Given the description of an element on the screen output the (x, y) to click on. 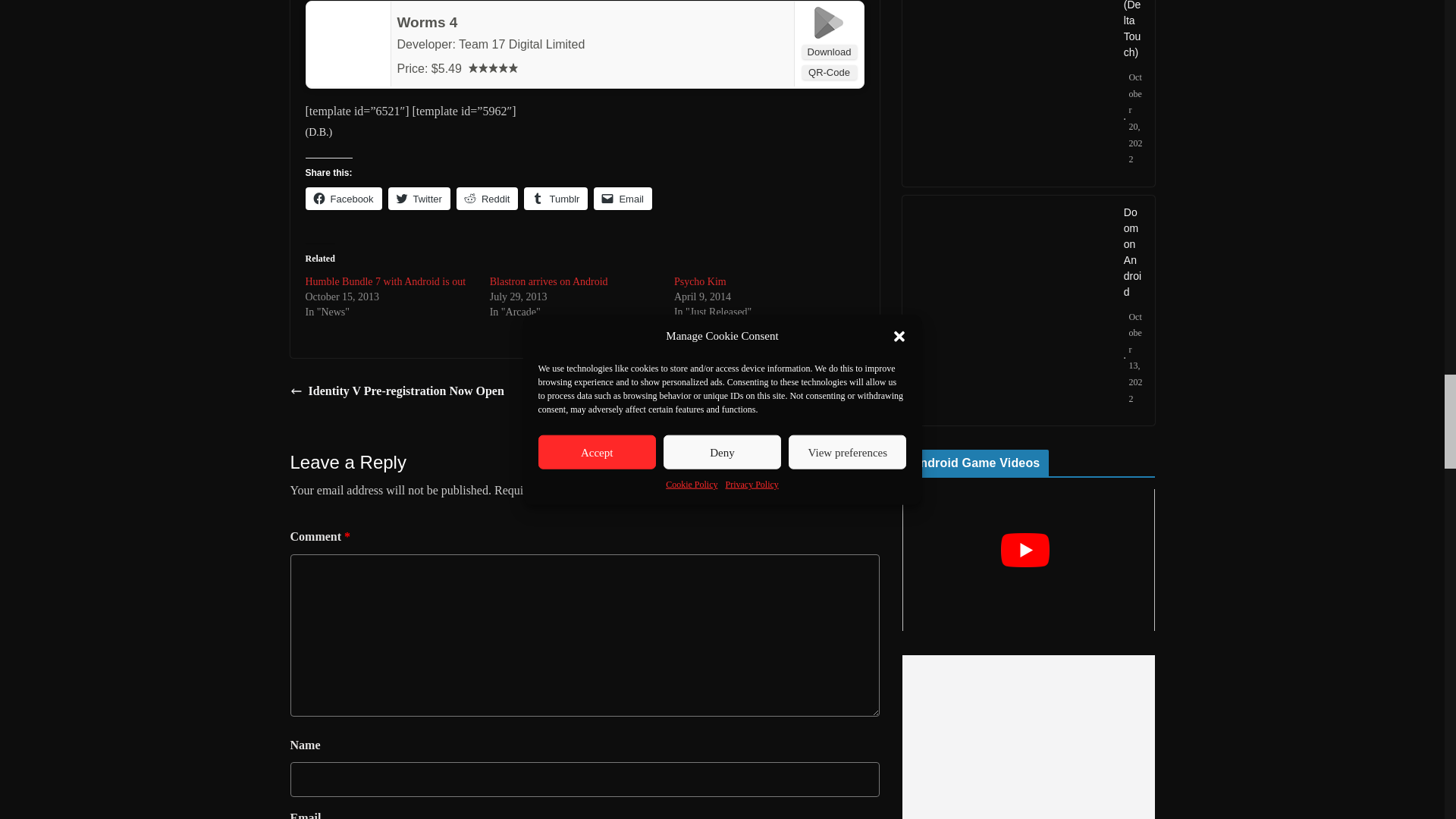
Click to share on Reddit (487, 198)
Worms 4 (427, 22)
Click to share on Twitter (418, 198)
Click to share on Facebook (342, 198)
5 of 5 stars (493, 67)
